Given the description of an element on the screen output the (x, y) to click on. 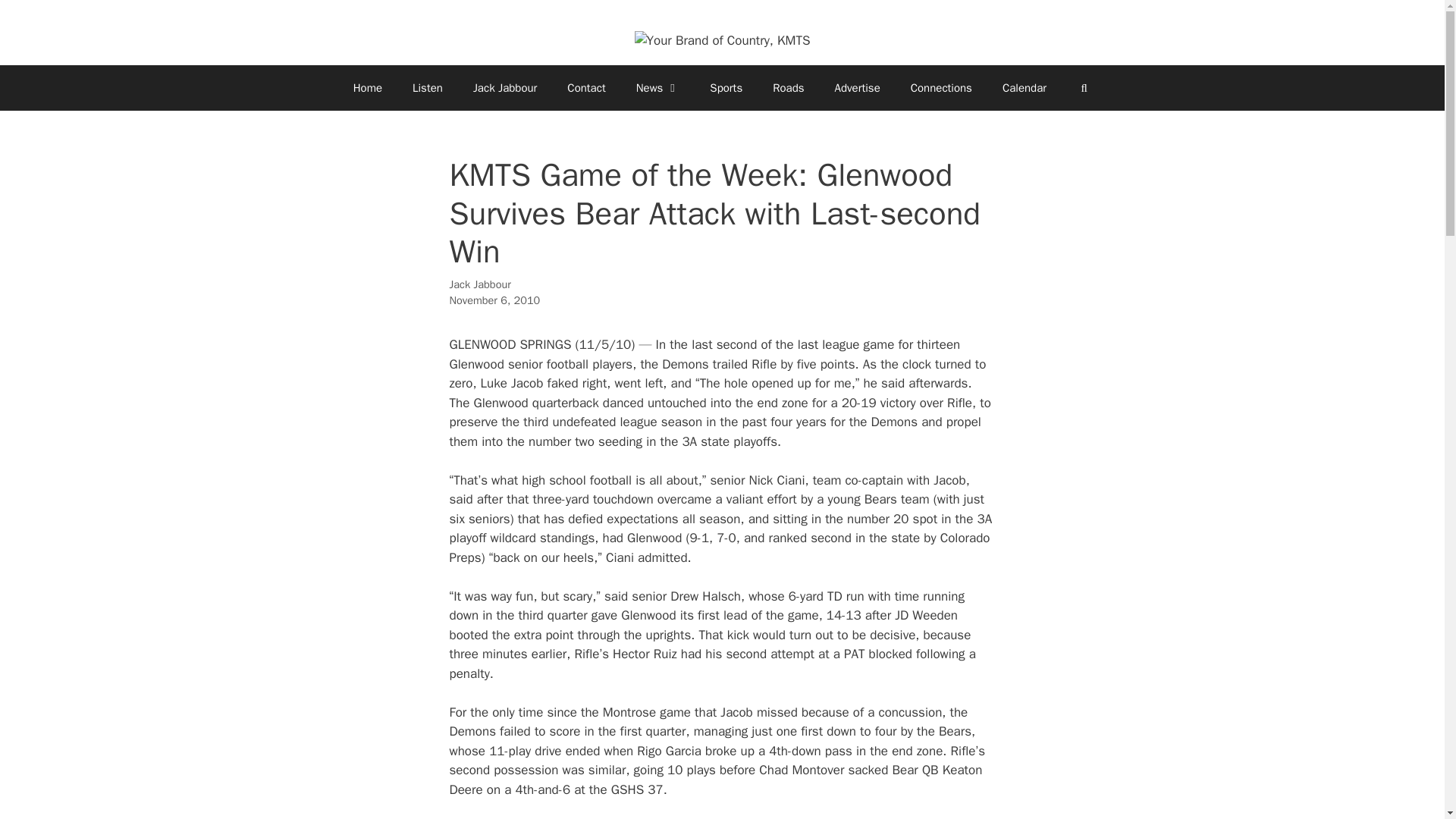
Jack Jabbour (504, 87)
News (658, 87)
Posts by Jack Jabbour (479, 284)
Connections (941, 87)
Sports (725, 87)
Roads (787, 87)
Home (367, 87)
Listen (427, 87)
Contact (585, 87)
Advertise (857, 87)
